Given the description of an element on the screen output the (x, y) to click on. 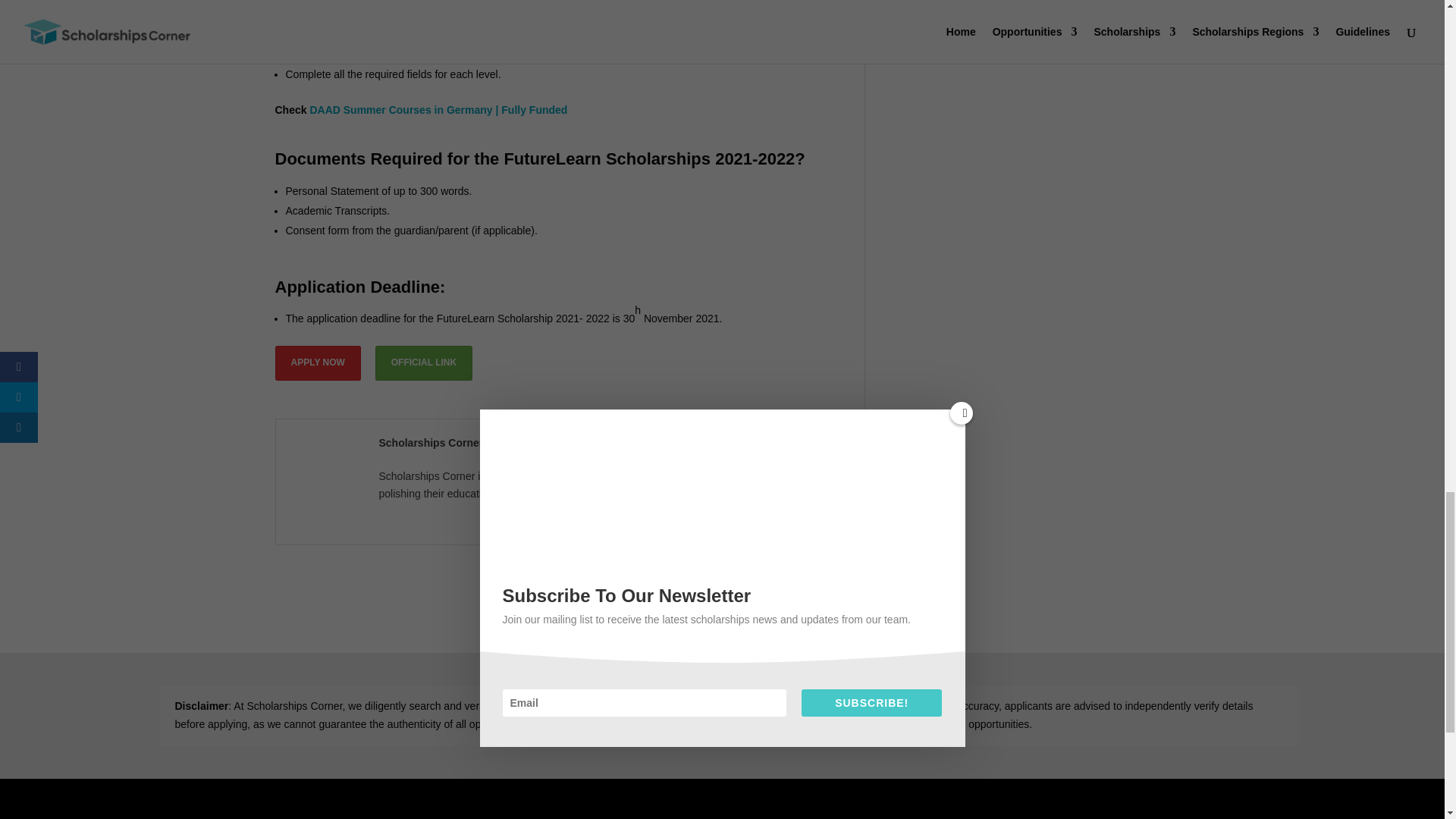
Ai file -02 (404, 814)
